Given the description of an element on the screen output the (x, y) to click on. 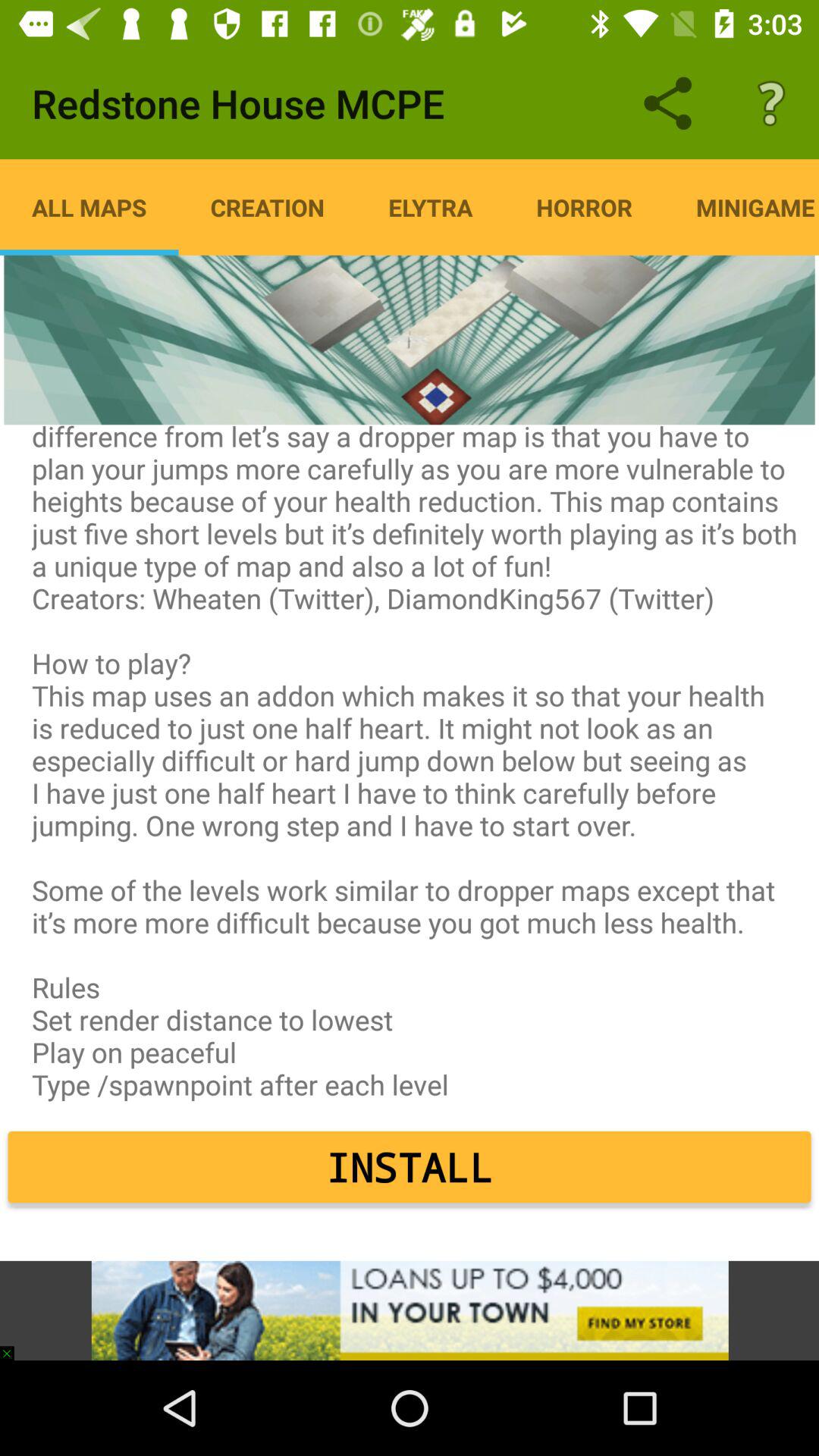
go to advertisement (409, 1310)
